Given the description of an element on the screen output the (x, y) to click on. 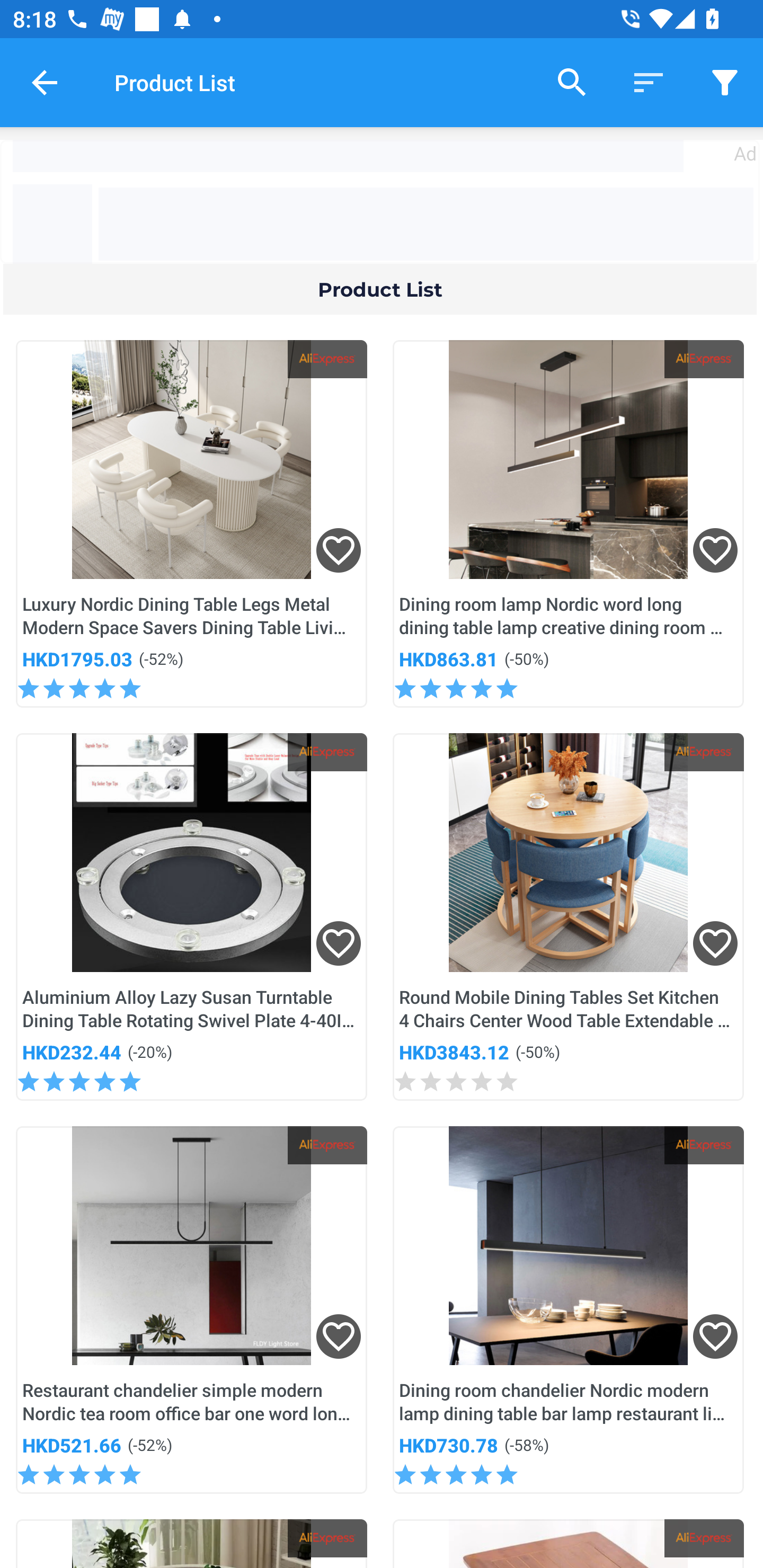
Navigate up (44, 82)
Search (572, 81)
short (648, 81)
short (724, 81)
